Given the description of an element on the screen output the (x, y) to click on. 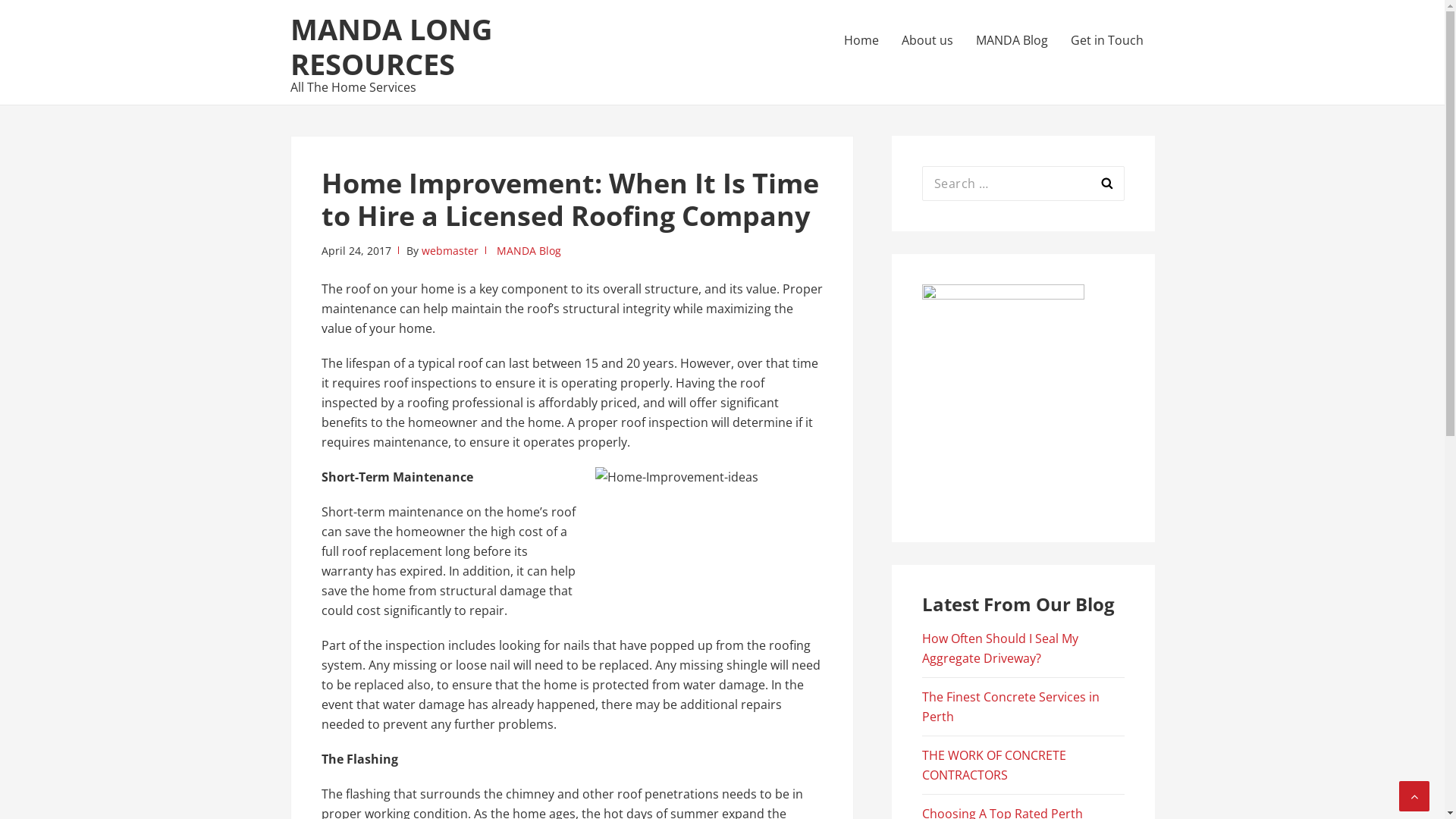
Home Element type: text (861, 40)
Get in Touch Element type: text (1106, 40)
The Finest Concrete Services in Perth Element type: text (1010, 706)
About us Element type: text (927, 40)
MANDA LONG RESOURCES Element type: text (390, 46)
webmaster Element type: text (449, 250)
MANDA Blog Element type: text (527, 250)
MANDA Blog Element type: text (1011, 40)
How Often Should I Seal My Aggregate Driveway? Element type: text (1000, 648)
Search Element type: text (1105, 183)
THE WORK OF CONCRETE CONTRACTORS Element type: text (994, 764)
